Given the description of an element on the screen output the (x, y) to click on. 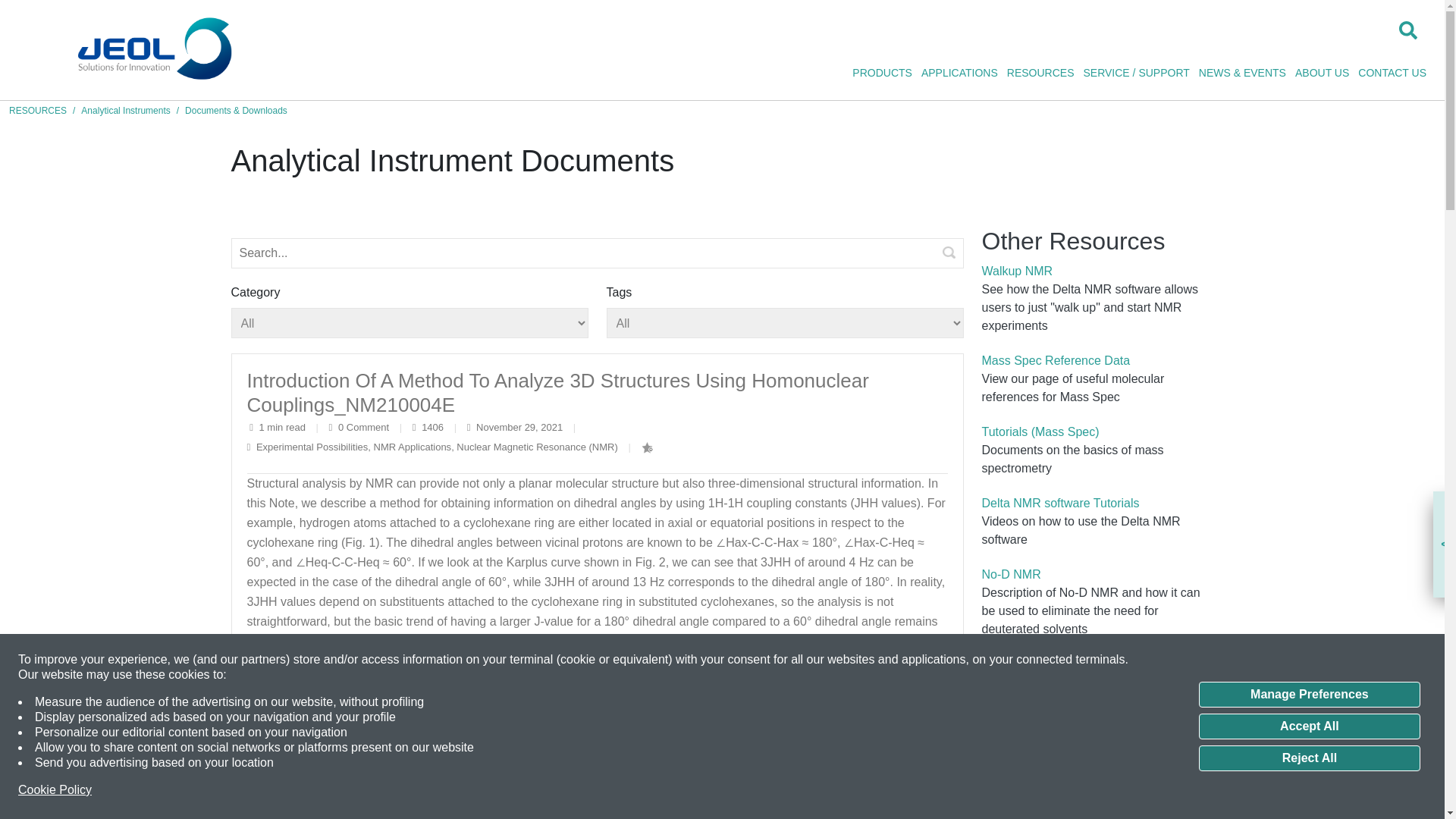
JEOL USA, Inc. (152, 49)
Search (949, 253)
Cookie Policy (54, 789)
You must be logged in to bookmark (646, 448)
Reject All (1309, 758)
Accept All (1309, 726)
Manage Preferences (1309, 694)
Search (949, 253)
PRODUCTS (881, 73)
You must be logged in to bookmark (879, 816)
